Given the description of an element on the screen output the (x, y) to click on. 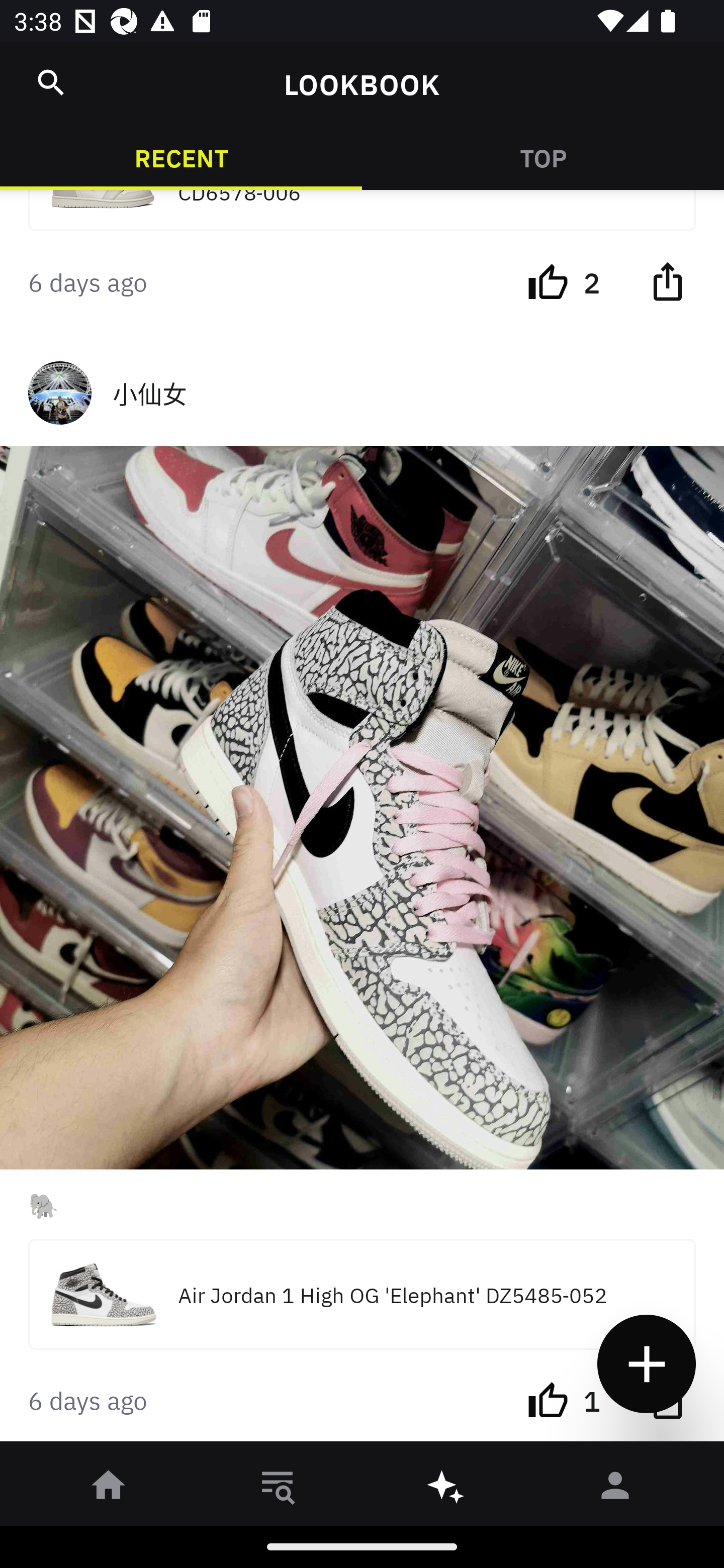
 (51, 82)
RECENT (181, 156)
TOP (543, 156)
󰔔 (547, 280)
 (667, 280)
🐘 (362, 1203)
Air Jordan 1 High OG 'Elephant' DZ5485‑052 (362, 1294)
󰔔 (547, 1398)
󰋜 (108, 1488)
󱎸 (277, 1488)
󰫢 (446, 1488)
󰀄 (615, 1488)
